Given the description of an element on the screen output the (x, y) to click on. 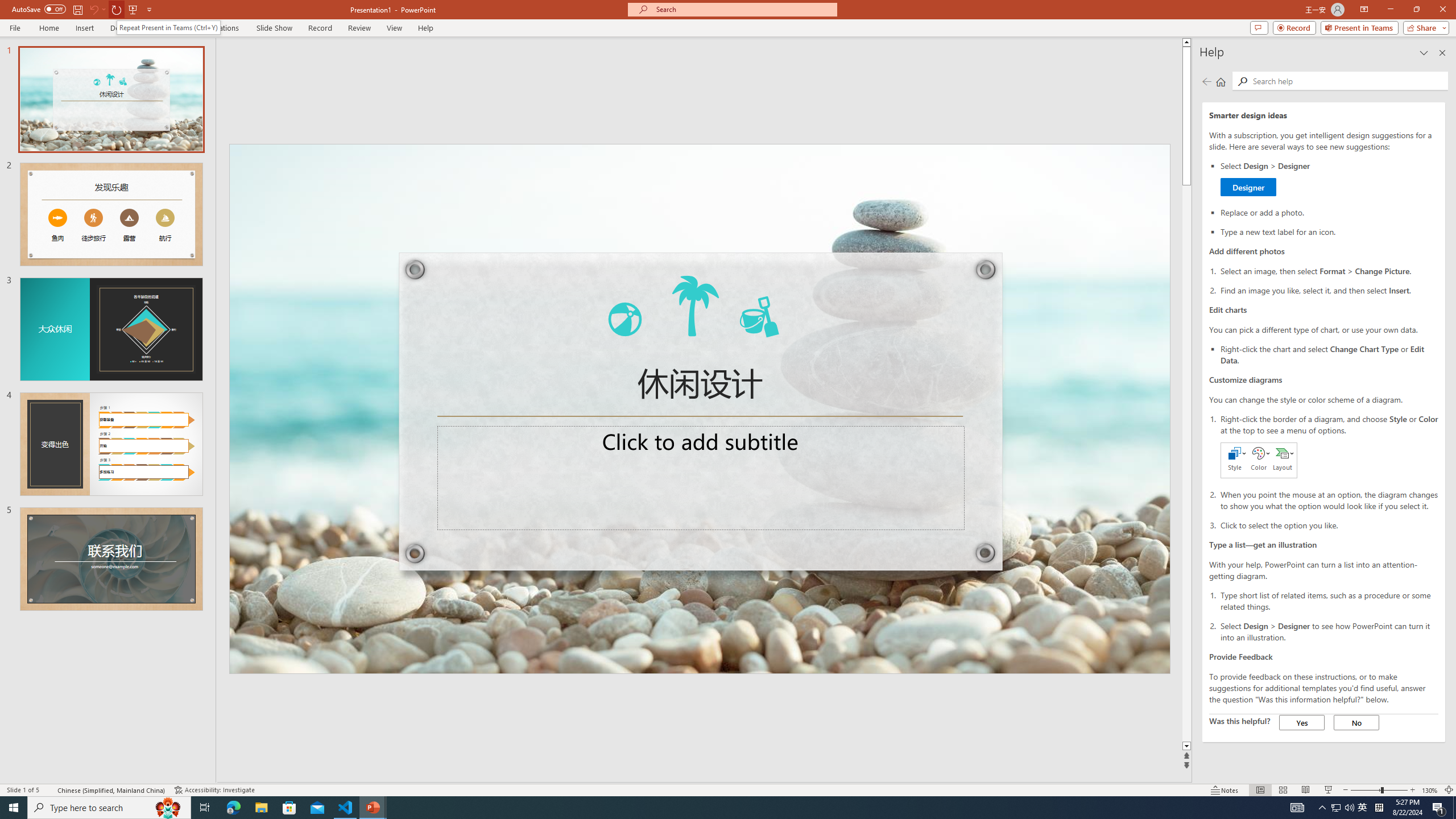
Class: MsoCommandBar (1329, 178)
Close pane (728, 789)
Search (1441, 52)
